Given the description of an element on the screen output the (x, y) to click on. 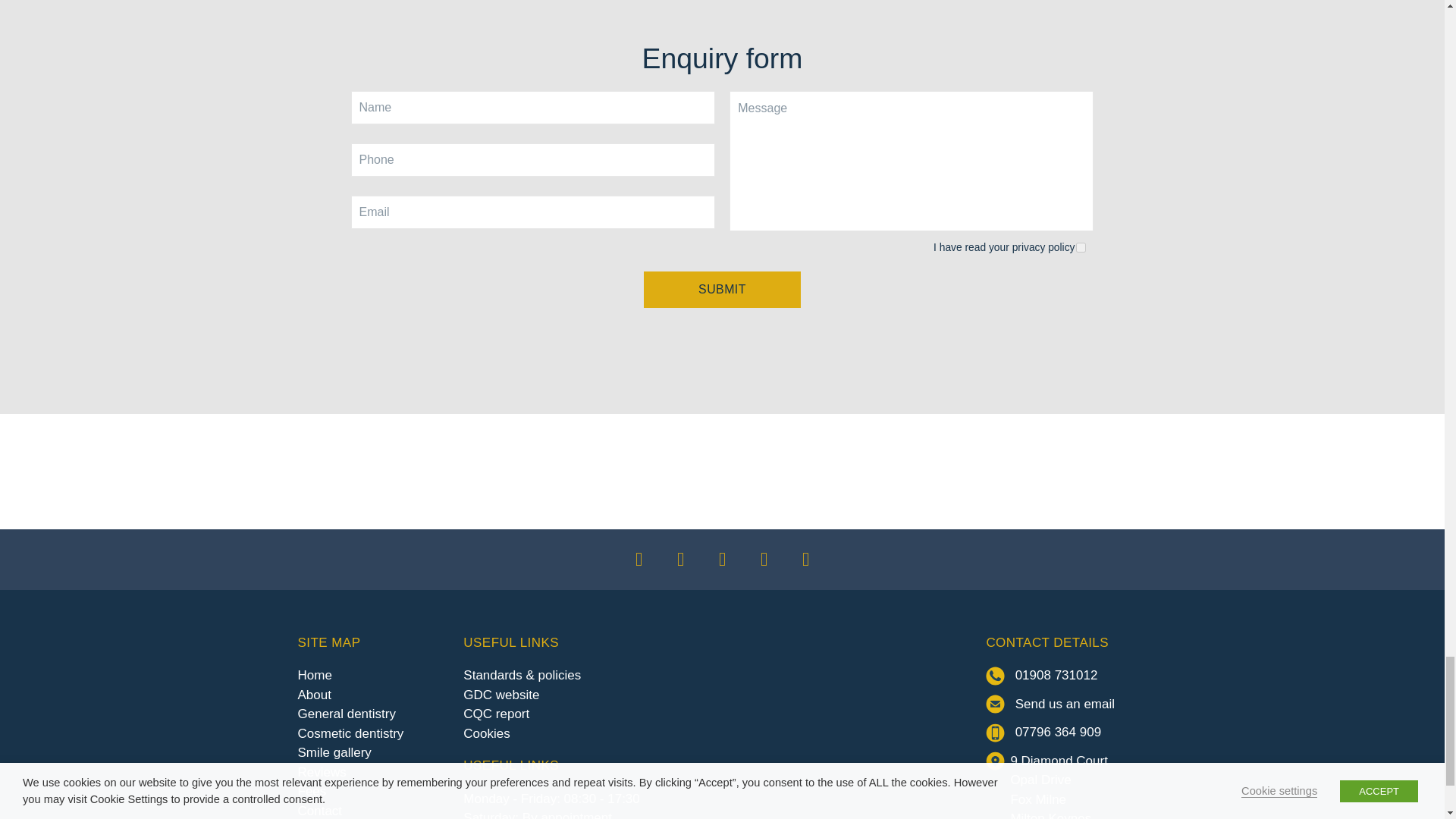
1 (1080, 247)
Sorriso Design, 9, Diamond Court, Milton Keynes MK15 0DU (804, 727)
Submit (721, 289)
